Given the description of an element on the screen output the (x, y) to click on. 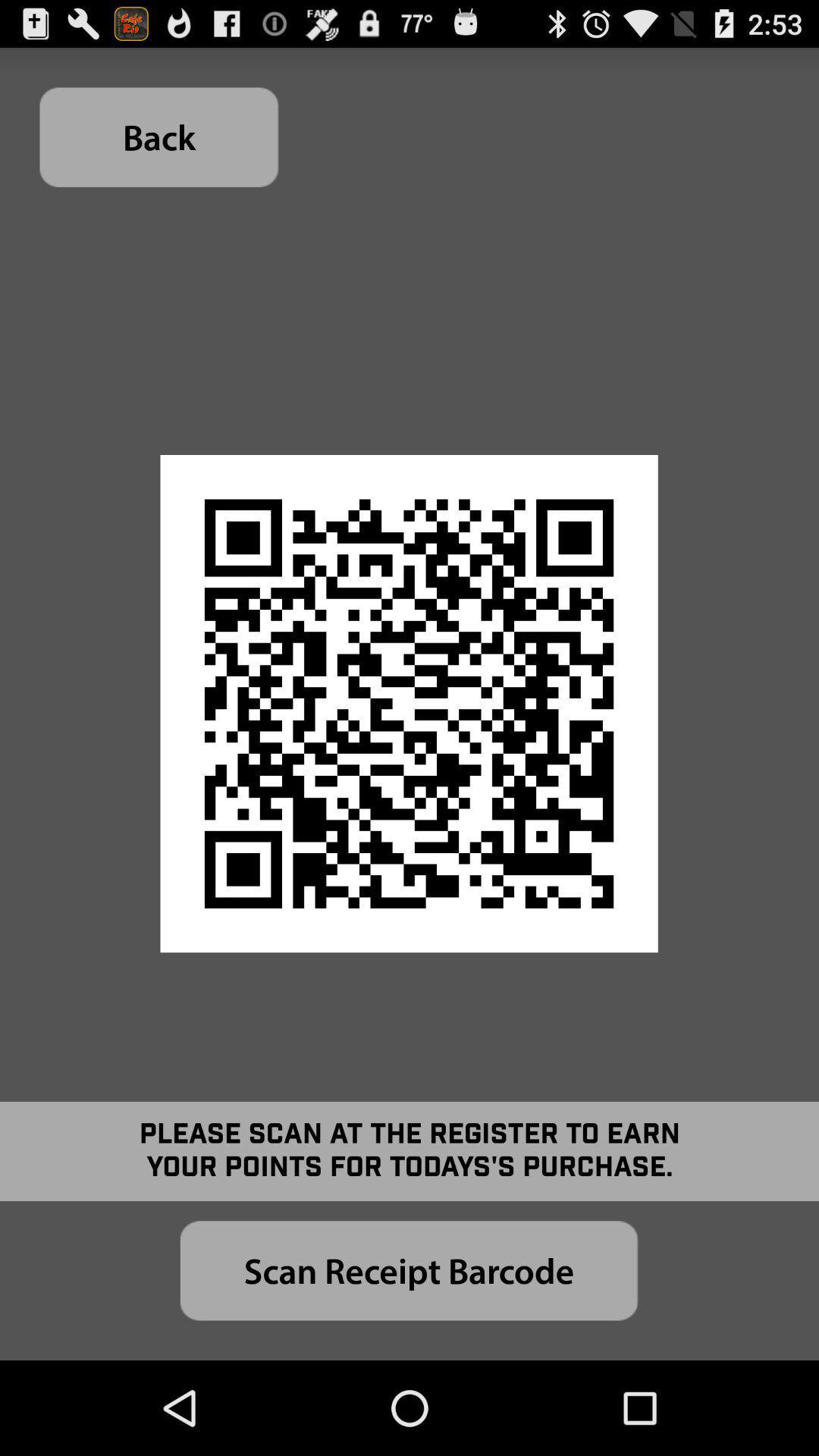
flip until back (158, 137)
